Given the description of an element on the screen output the (x, y) to click on. 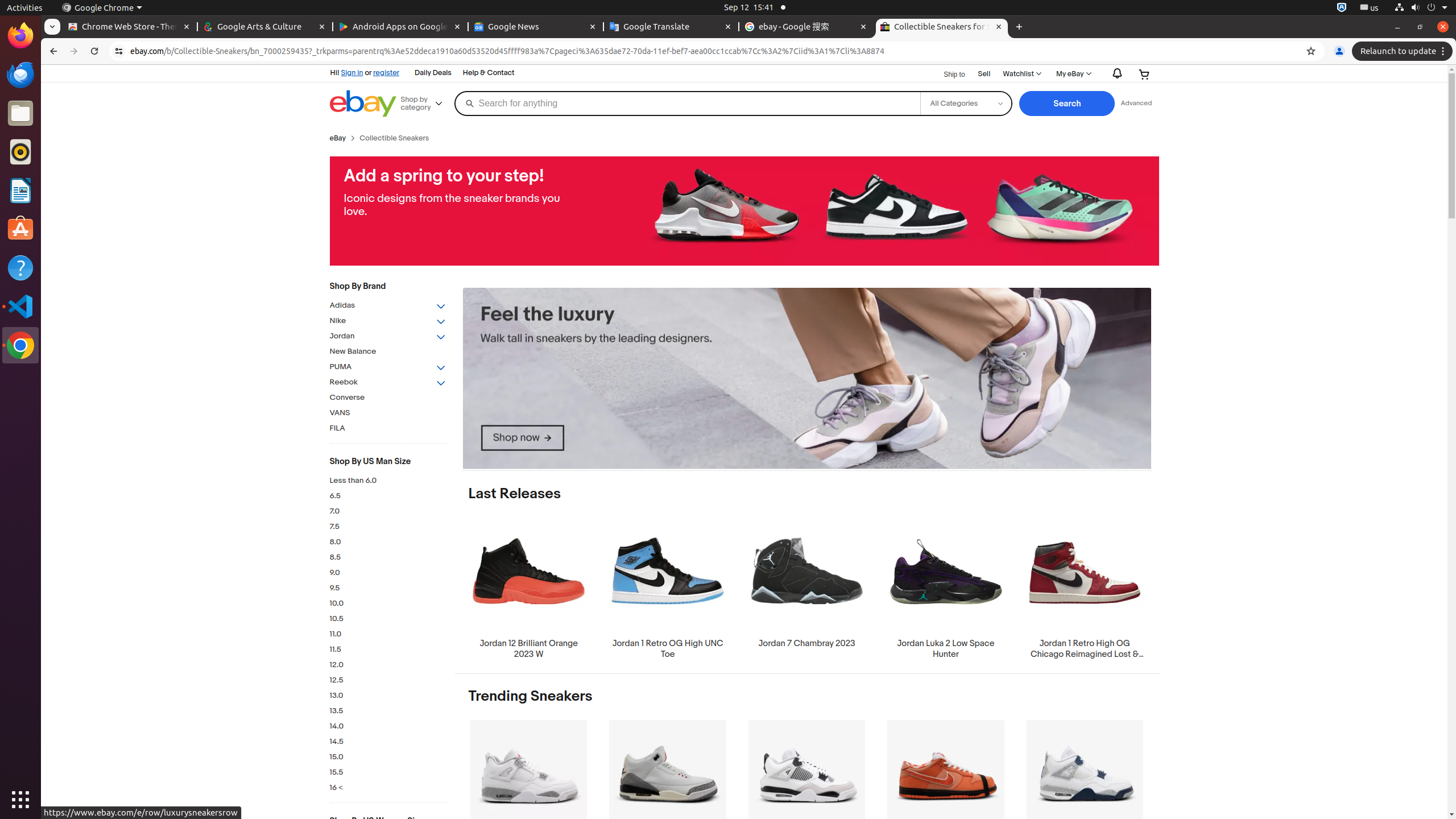
Jordan 1 Retro High OG Chicago Reimagined Lost & Found 2022 Element type: link (1084, 587)
11.5 Element type: link (387, 649)
13.0 Element type: link (387, 695)
LibreOffice Writer Element type: push-button (20, 190)
eBay Element type: link (337, 137)
